Given the description of an element on the screen output the (x, y) to click on. 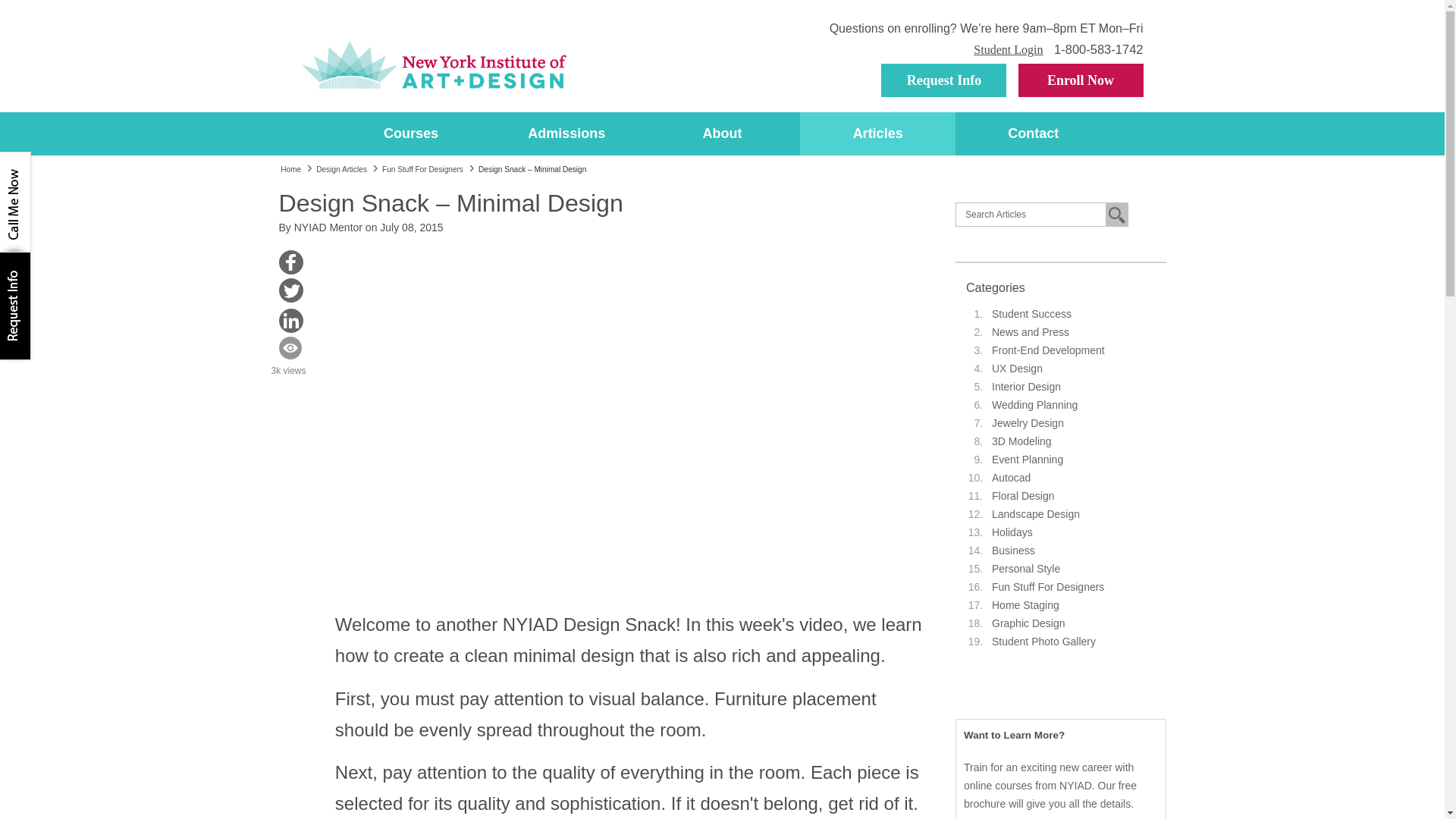
New York Institute of Art and Design (433, 64)
Student Login (1008, 49)
NYIP photo articles - Student Photo Gallery (1043, 641)
Admissions (567, 133)
Articles (877, 133)
Courses (411, 133)
About (722, 133)
Enroll Now (1079, 80)
Request Info (943, 80)
1-800-583-1742 (1098, 49)
